Given the description of an element on the screen output the (x, y) to click on. 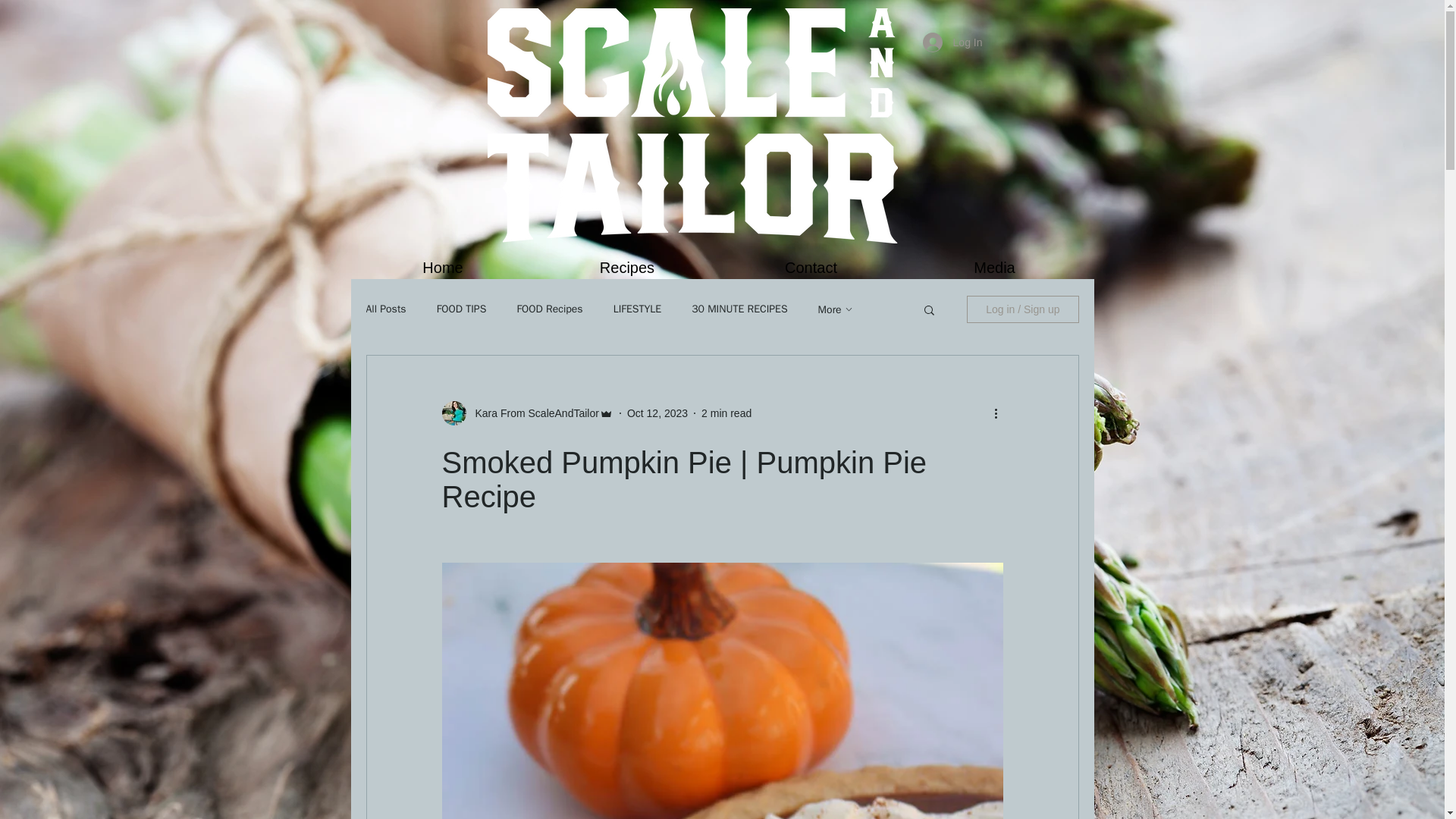
2 min read (726, 412)
LIFESTYLE (637, 309)
All Posts (385, 309)
Oct 12, 2023 (657, 412)
30 MINUTE RECIPES (739, 309)
Kara From ScaleAndTailor (526, 413)
Home (442, 267)
Contact (810, 267)
Recipes (627, 267)
FOOD TIPS (461, 309)
Kara From ScaleAndTailor (531, 412)
Log In (952, 41)
Media (994, 267)
FOOD Recipes (549, 309)
